Given the description of an element on the screen output the (x, y) to click on. 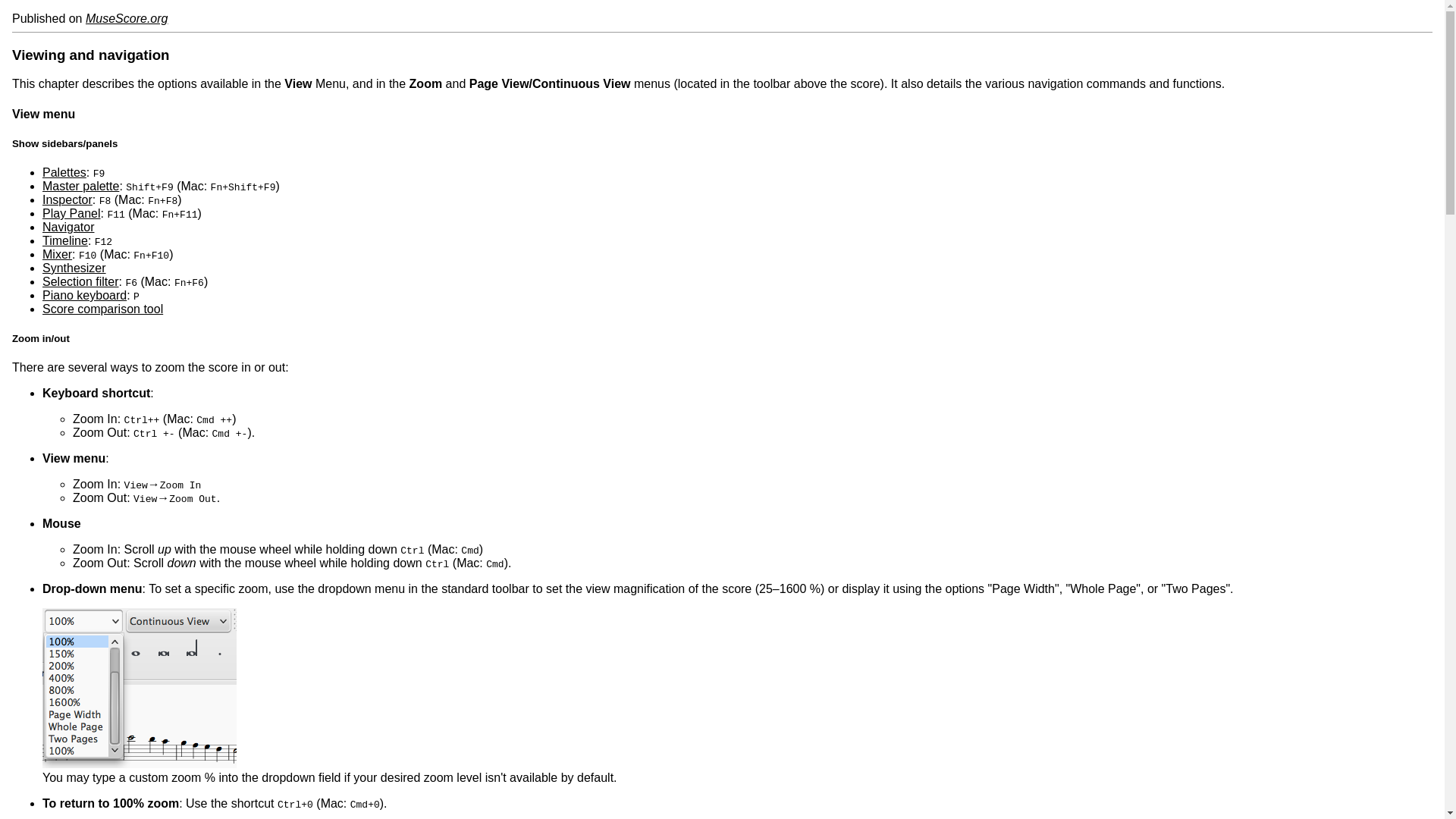
MuseScore.org (126, 18)
Master palette (80, 185)
Piano keyboard (84, 295)
Selection filter (80, 281)
Play Panel (71, 213)
Inspector (67, 199)
Navigator (68, 226)
Score comparison tool (102, 308)
Mixer (56, 254)
Palettes (63, 172)
Timeline (64, 240)
Zoom (138, 688)
Synthesizer (74, 267)
